Given the description of an element on the screen output the (x, y) to click on. 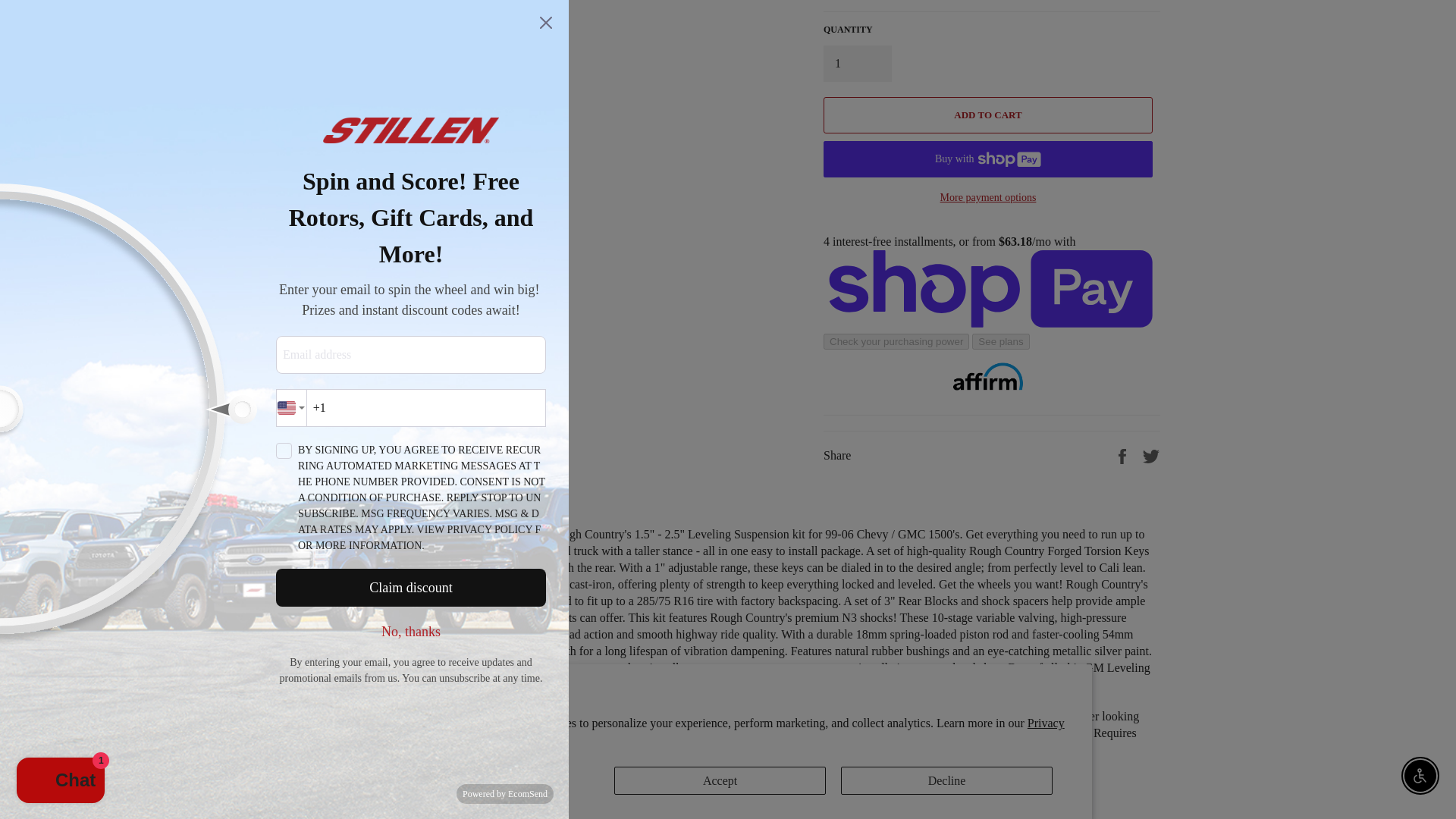
Manage preferences (493, 248)
Decline (946, 248)
Accept (719, 248)
Privacy Policy. (726, 198)
1 (857, 63)
Powered by EcomSend (505, 261)
